Given the description of an element on the screen output the (x, y) to click on. 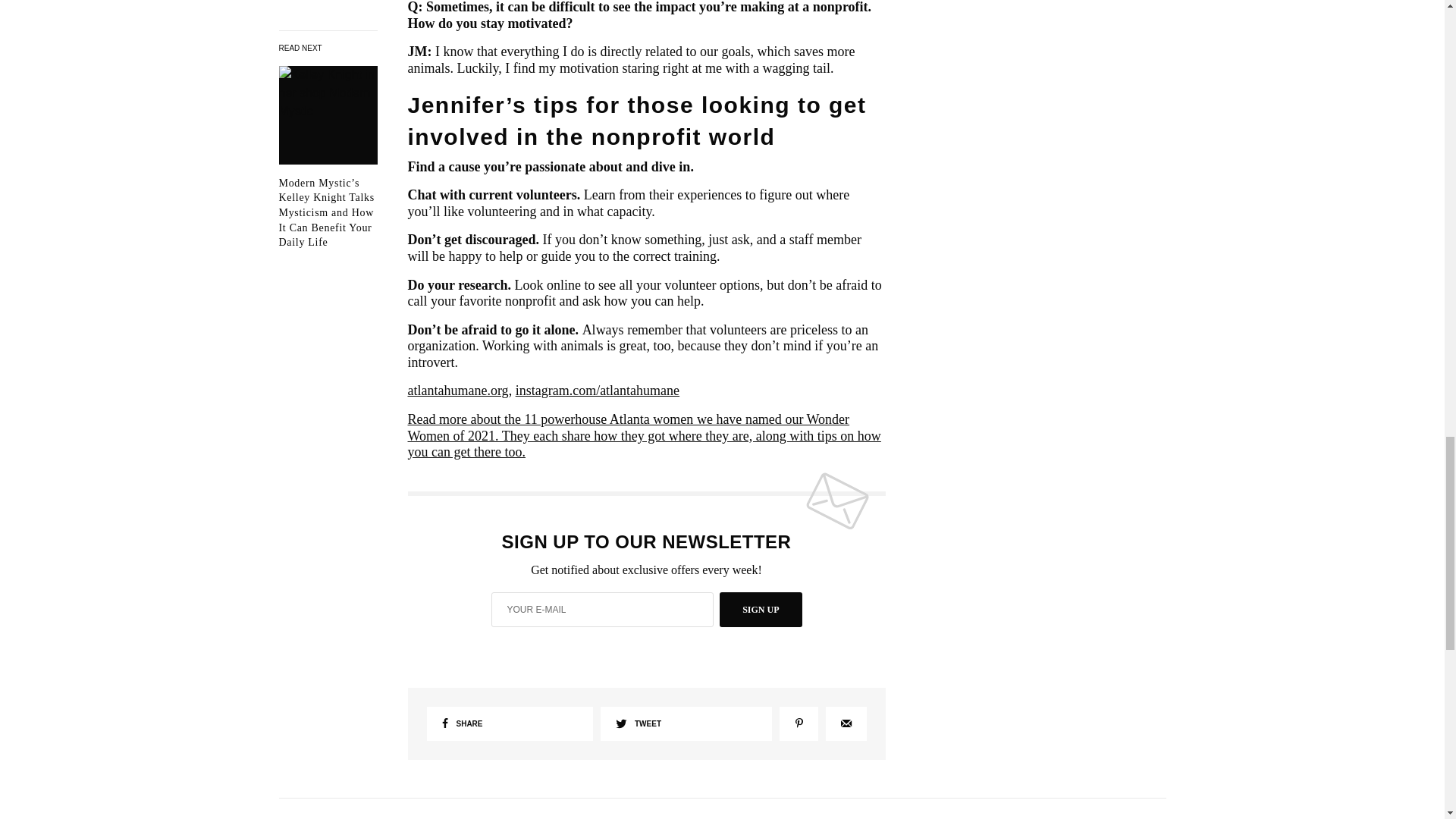
SIGN UP (760, 609)
atlantahumane.org (457, 390)
